Given the description of an element on the screen output the (x, y) to click on. 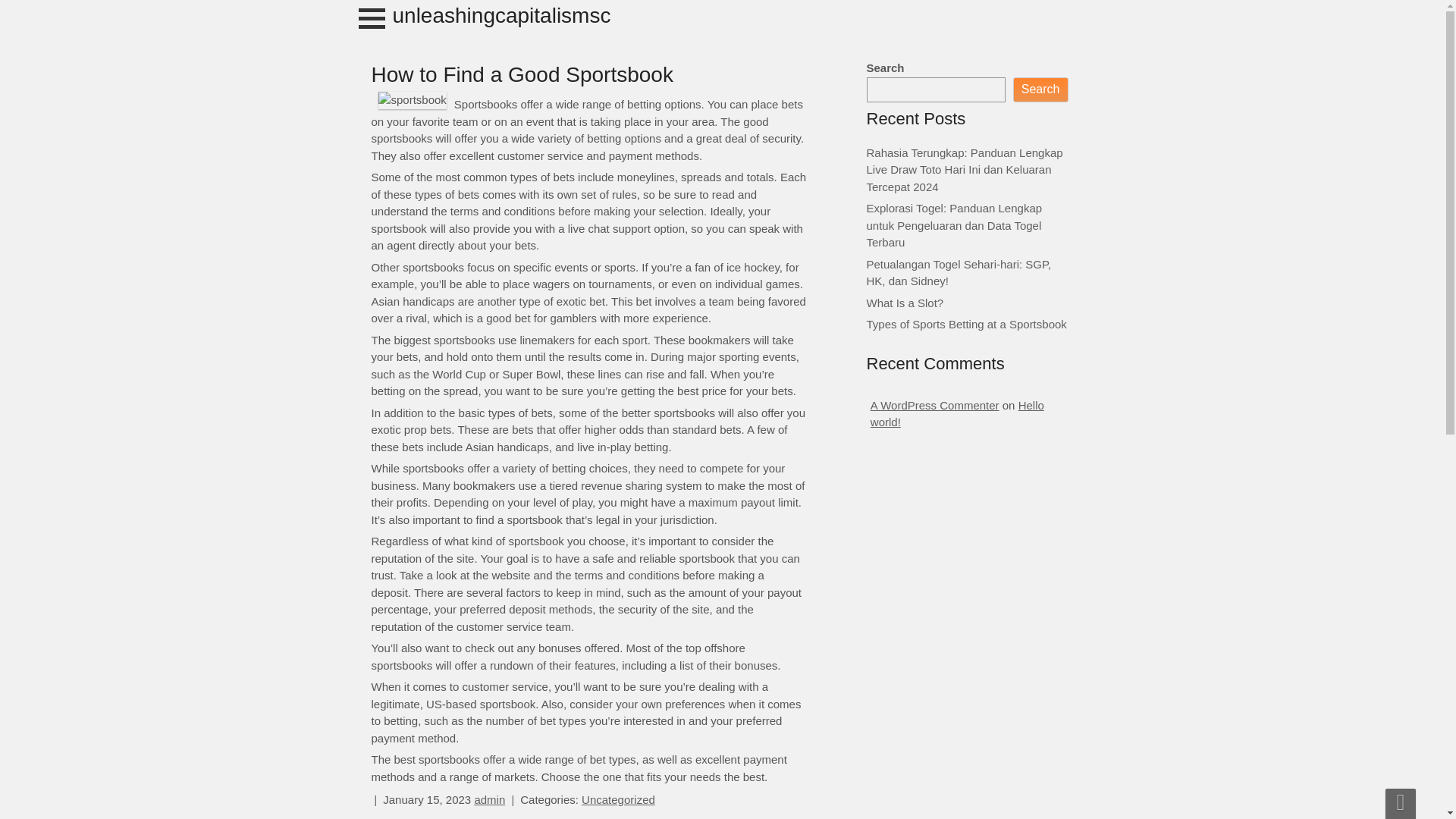
unleashingcapitalismsc (502, 15)
Petualangan Togel Sehari-hari: SGP, HK, dan Sidney! (958, 272)
admin (489, 799)
What Is a Slot? (904, 301)
Uncategorized (617, 799)
Search (1040, 89)
A WordPress Commenter (934, 404)
Hello world! (956, 413)
